Given the description of an element on the screen output the (x, y) to click on. 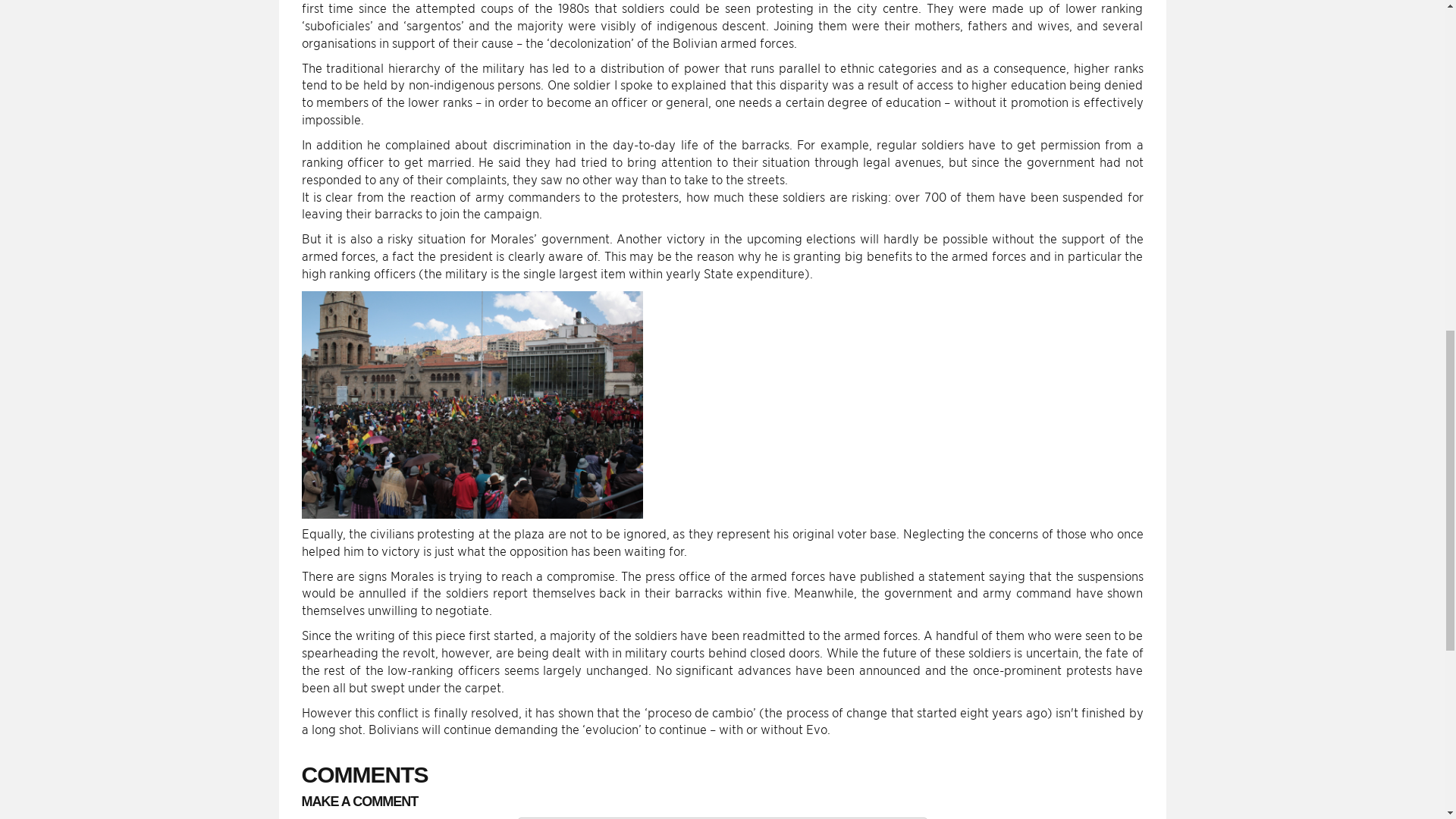
Katharina Von Sohlern 2 (472, 404)
